Given the description of an element on the screen output the (x, y) to click on. 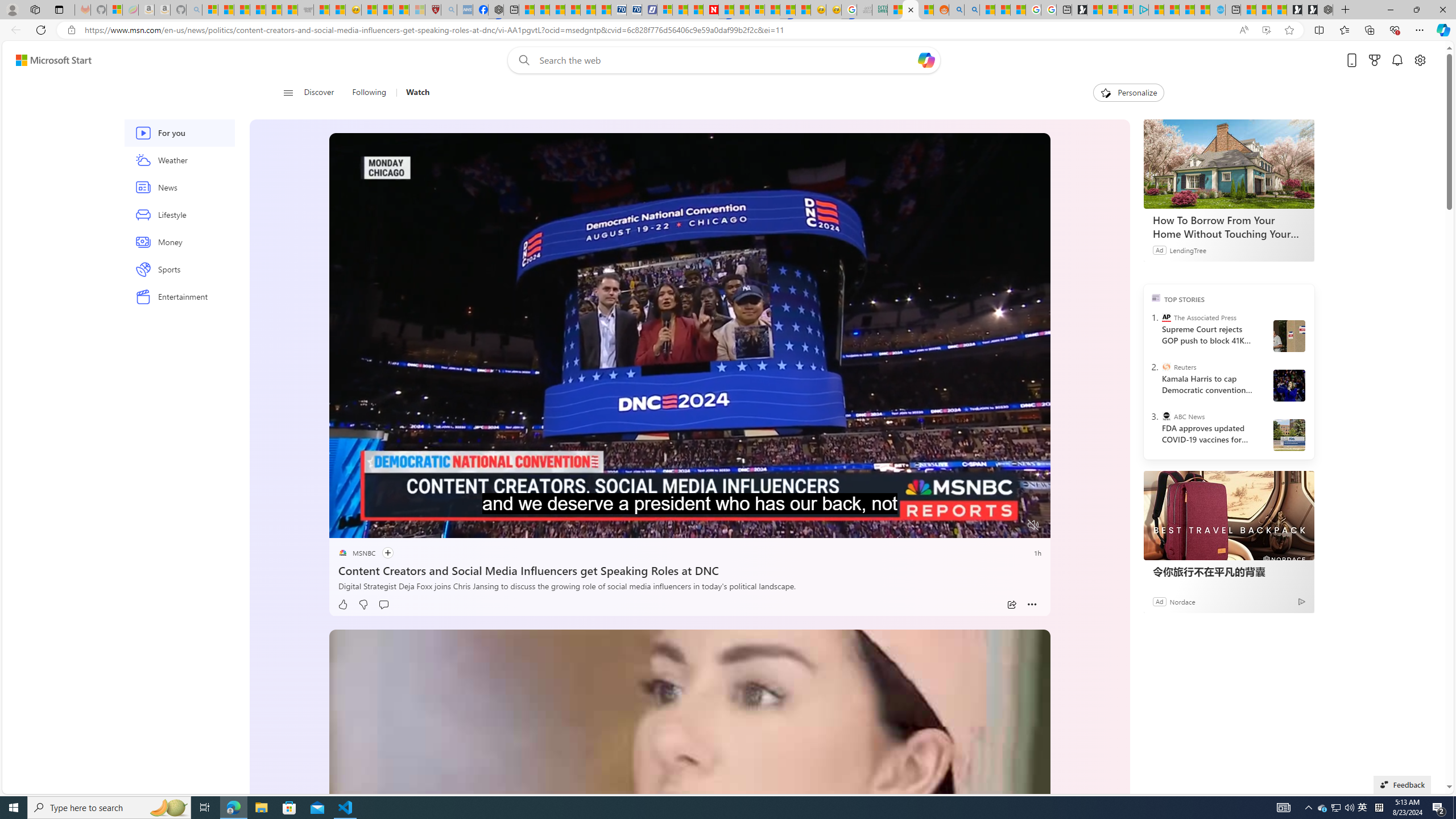
Enhance video (1266, 29)
Follow (381, 553)
New Report Confirms 2023 Was Record Hot | Watch (273, 9)
